Given the description of an element on the screen output the (x, y) to click on. 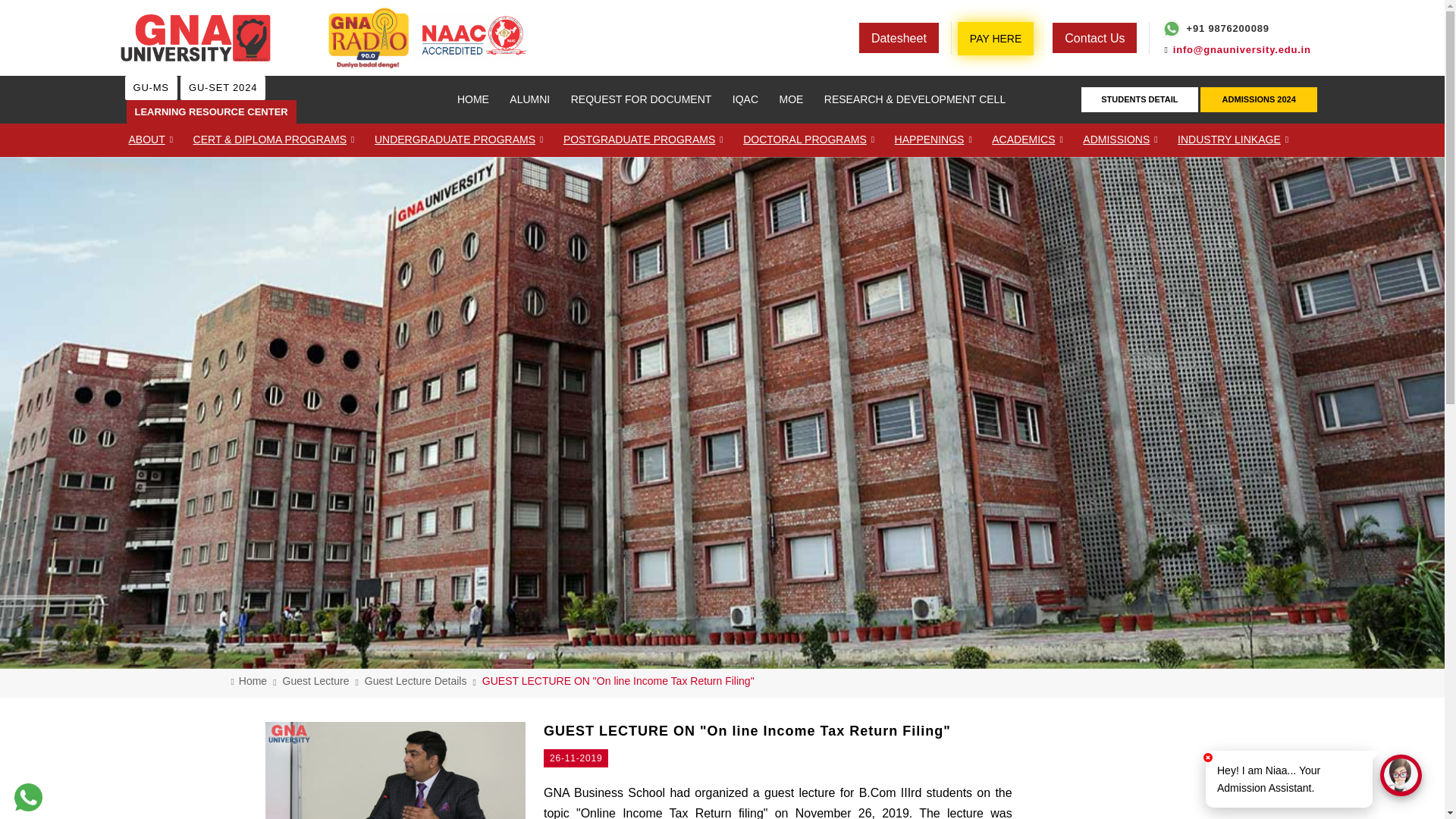
REQUEST FOR DOCUMENT (641, 99)
STUDENTS DETAIL (1138, 99)
Datesheet (898, 37)
LEARNING RESOURCE CENTER (210, 111)
GU-MS (149, 87)
GU-SET 2024 (222, 87)
Contact Us (1094, 37)
Niaa (1401, 775)
HOME (472, 99)
ALUMNI (529, 99)
ABOUT (149, 140)
IQAC (745, 99)
ADMISSIONS 2024 (1258, 99)
MOE (790, 99)
PAY HERE (995, 38)
